Given the description of an element on the screen output the (x, y) to click on. 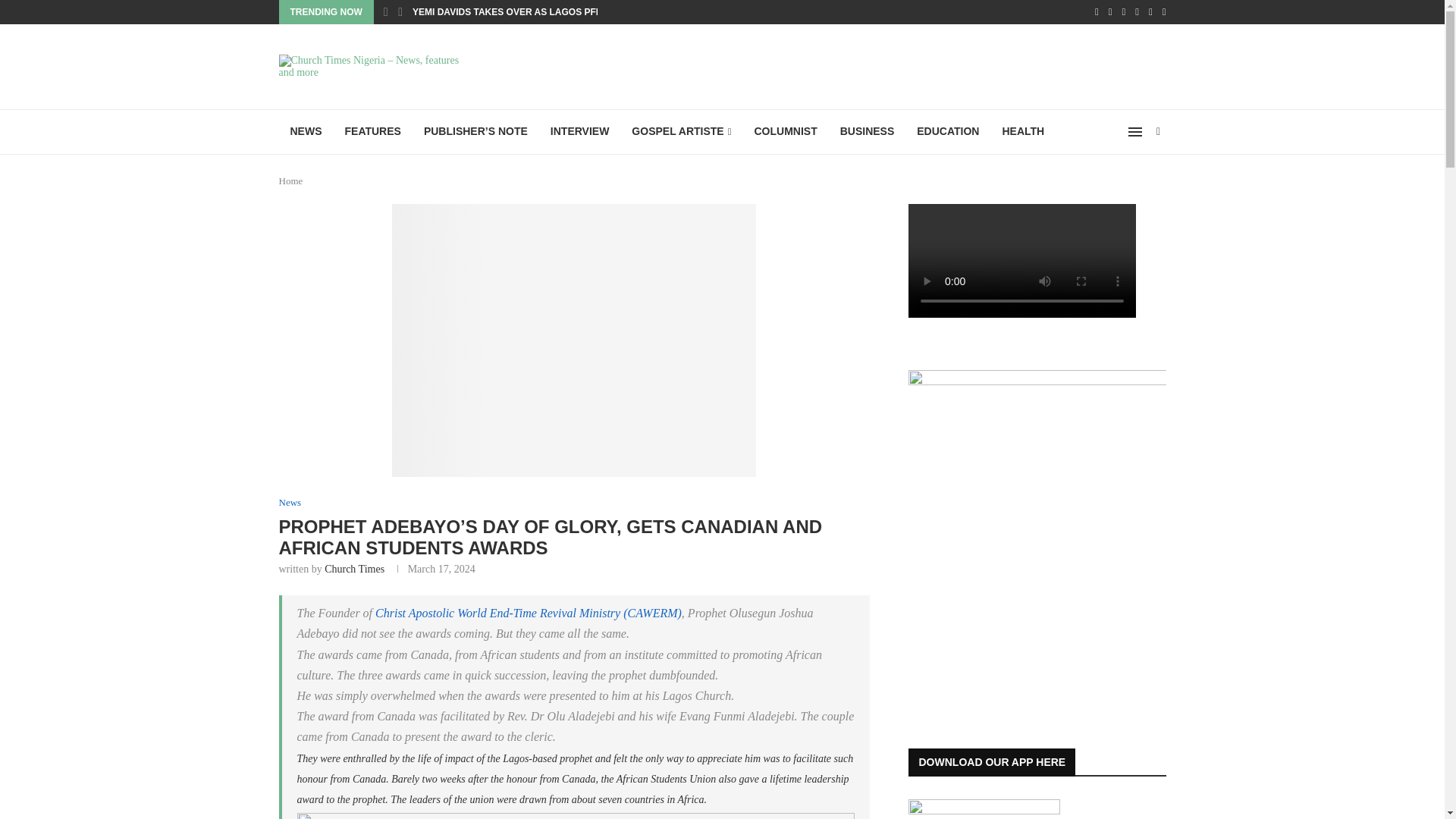
INTERVIEW (579, 131)
EDUCATION (947, 131)
BUSINESS (866, 131)
GOSPEL ARTISTE (681, 131)
HEALTH (1022, 131)
YEMI DAVIDS TAKES OVER AS LAGOS PFN CHAIR,... (527, 12)
Home (290, 180)
News (290, 502)
Church Times (354, 568)
COLUMNIST (785, 131)
